Given the description of an element on the screen output the (x, y) to click on. 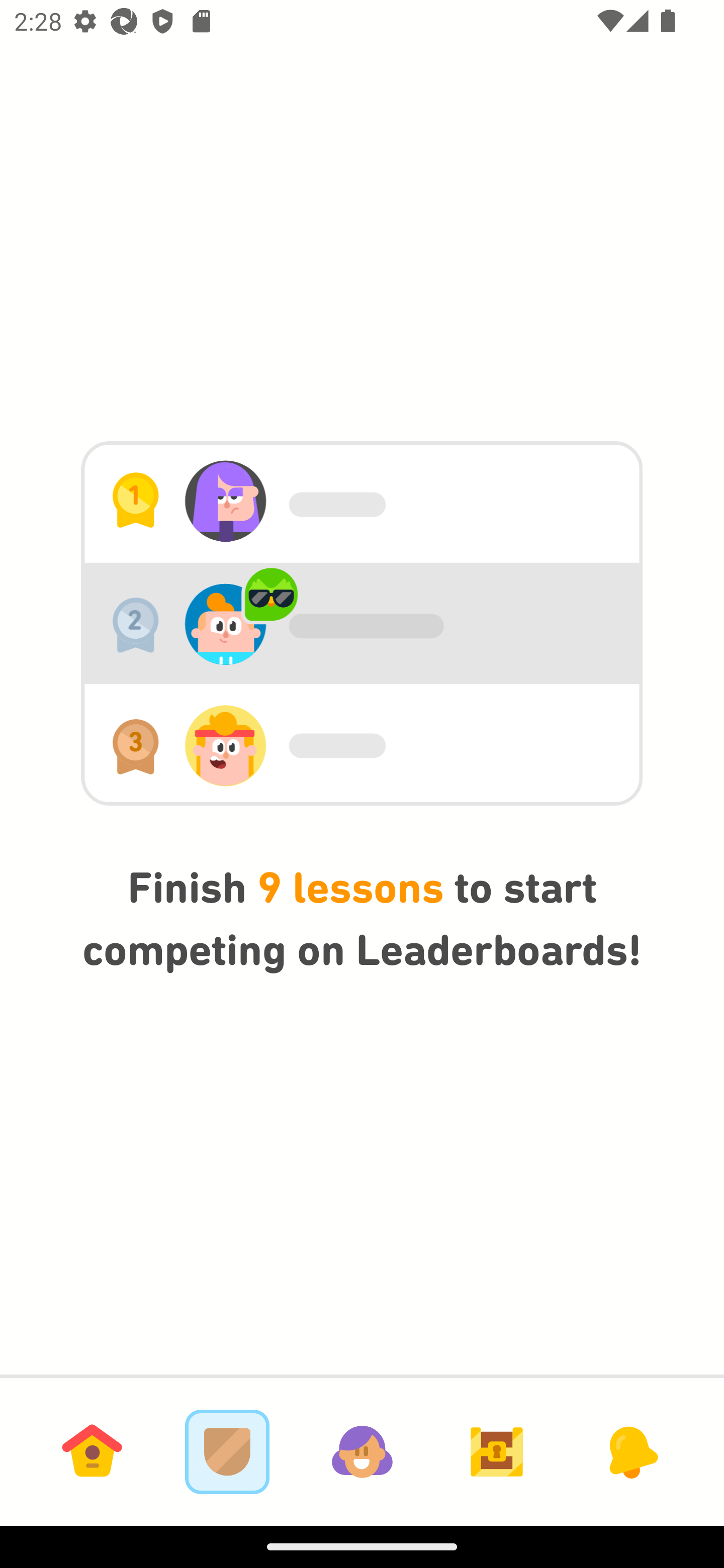
Learn Tab (91, 1451)
Leagues Tab (227, 1451)
Profile Tab (361, 1451)
Goals Tab (496, 1451)
News Tab (631, 1451)
